Given the description of an element on the screen output the (x, y) to click on. 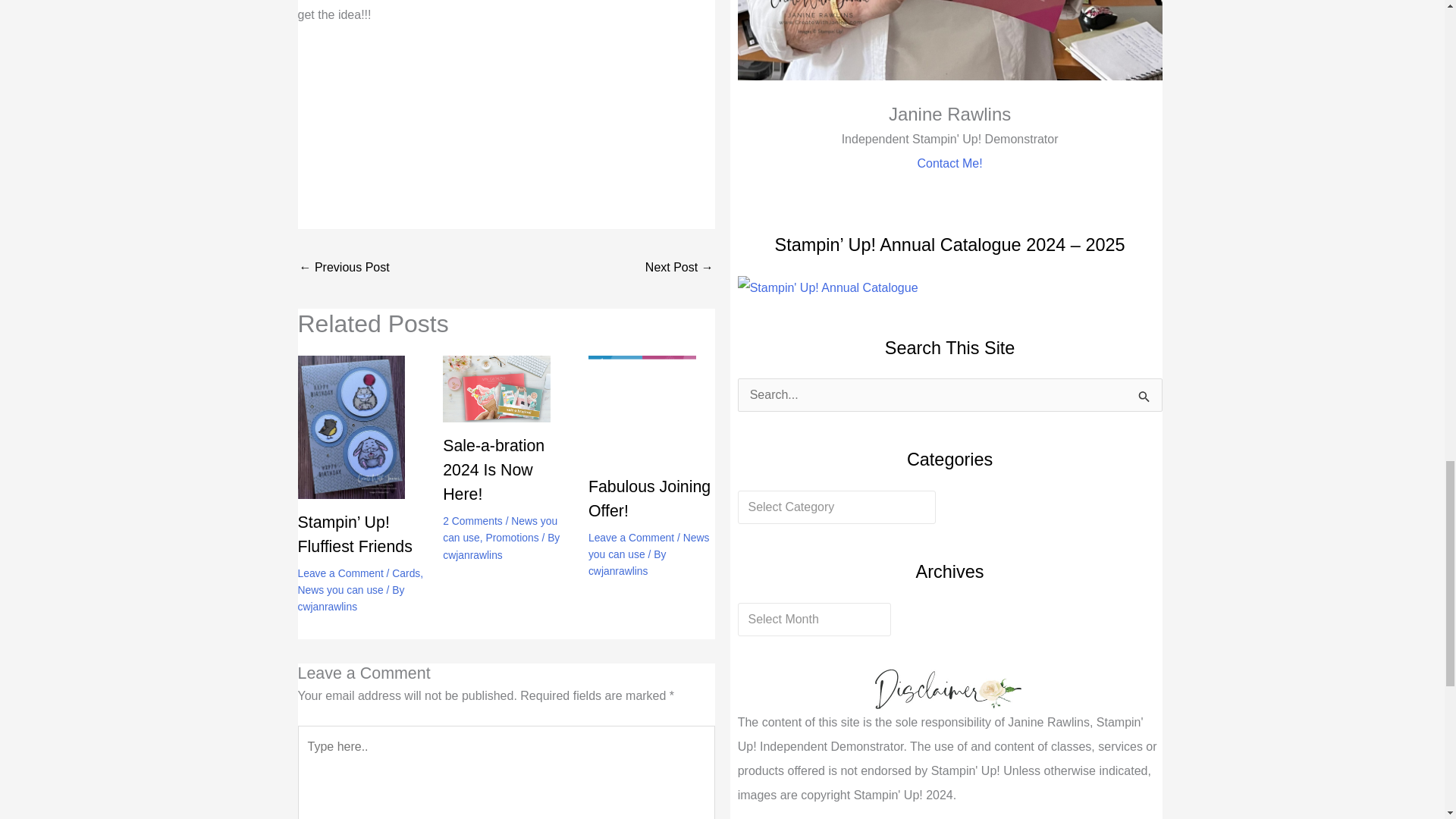
View all posts by cwjanrawlins (617, 571)
Leave a Comment (339, 573)
View all posts by cwjanrawlins (326, 606)
Stampin'Up! Designer Fabric Flower Card (679, 268)
View all posts by cwjanrawlins (472, 554)
